Given the description of an element on the screen output the (x, y) to click on. 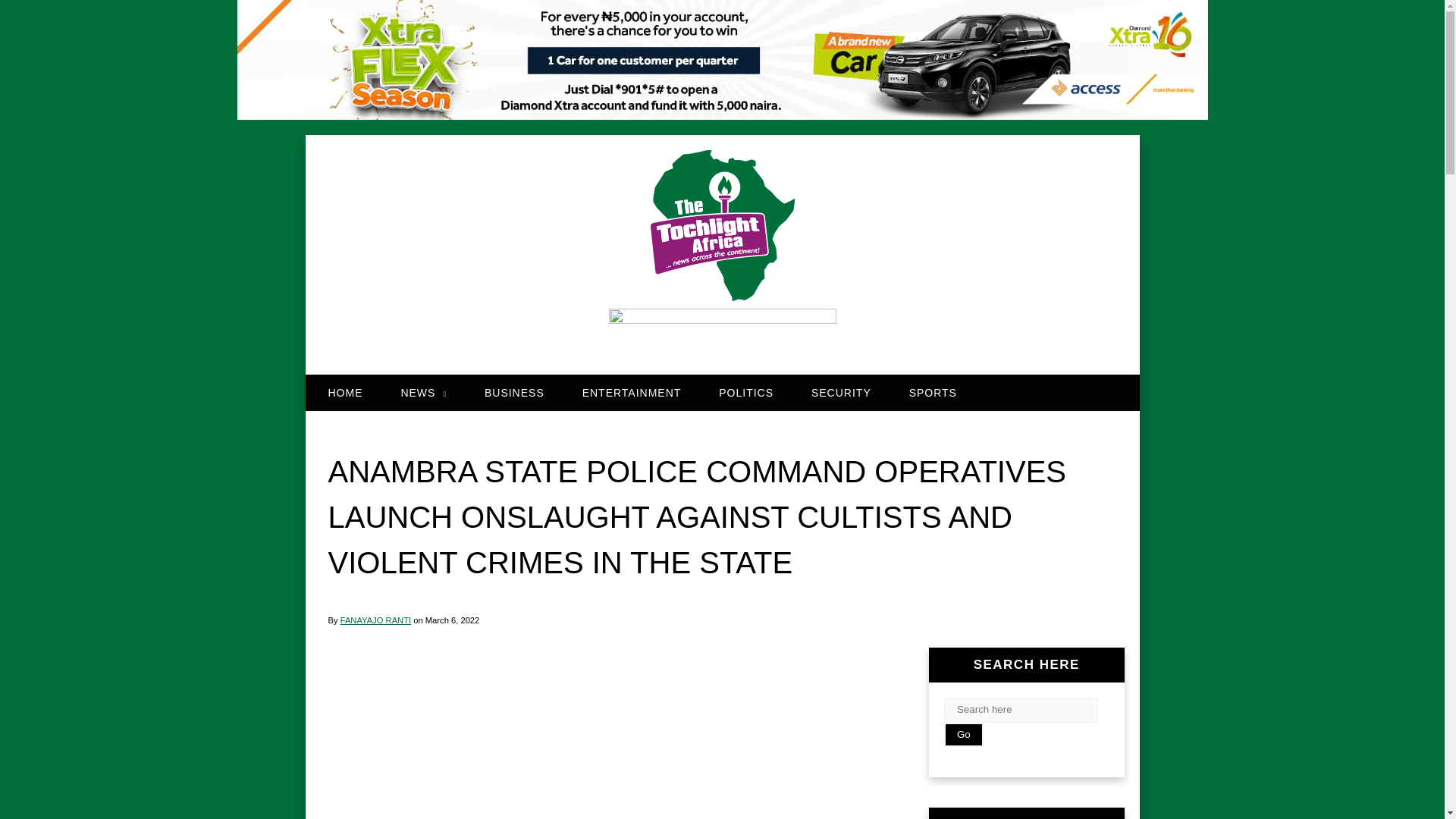
SECURITY (840, 392)
NEWS (423, 392)
Go (963, 734)
BUSINESS (514, 392)
Posts by FANAYAJO RANTI (375, 619)
ENTERTAINMENT (631, 392)
POLITICS (746, 392)
FANAYAJO RANTI (375, 619)
SPORTS (932, 392)
The Tochlight Africa (722, 228)
